Given the description of an element on the screen output the (x, y) to click on. 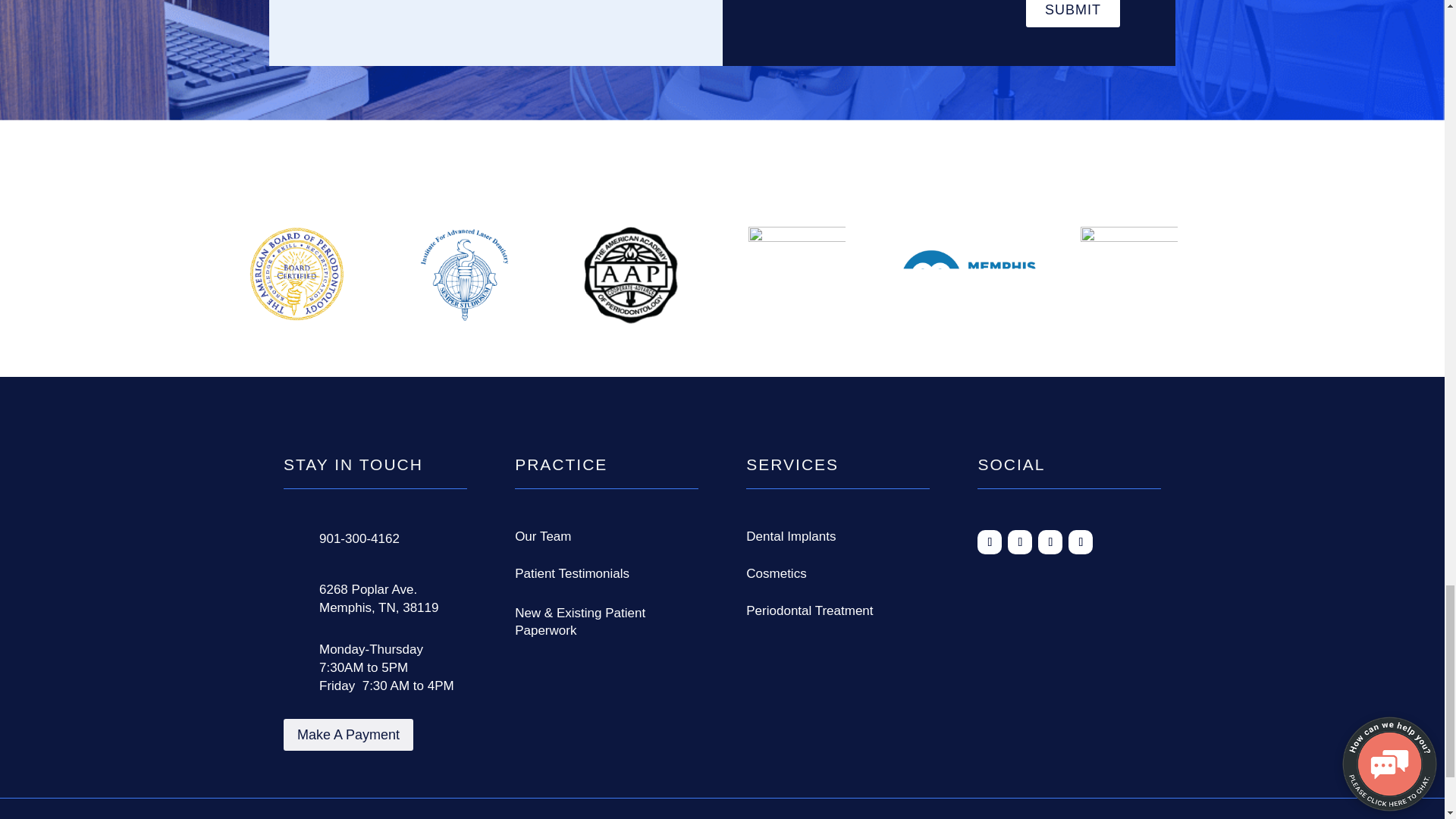
AWARDS footer-40 (1128, 150)
AWARDS footer-36 (463, 146)
AWARDS footer-37 (630, 146)
AWARDS footer-35 (297, 146)
Follow on Youtube (1080, 413)
AWARDS footer-38 (796, 149)
Follow on Google (1019, 413)
Follow on Facebook (988, 413)
Follow on Instagram (1050, 413)
AWARDS footer-39 (967, 153)
